Given the description of an element on the screen output the (x, y) to click on. 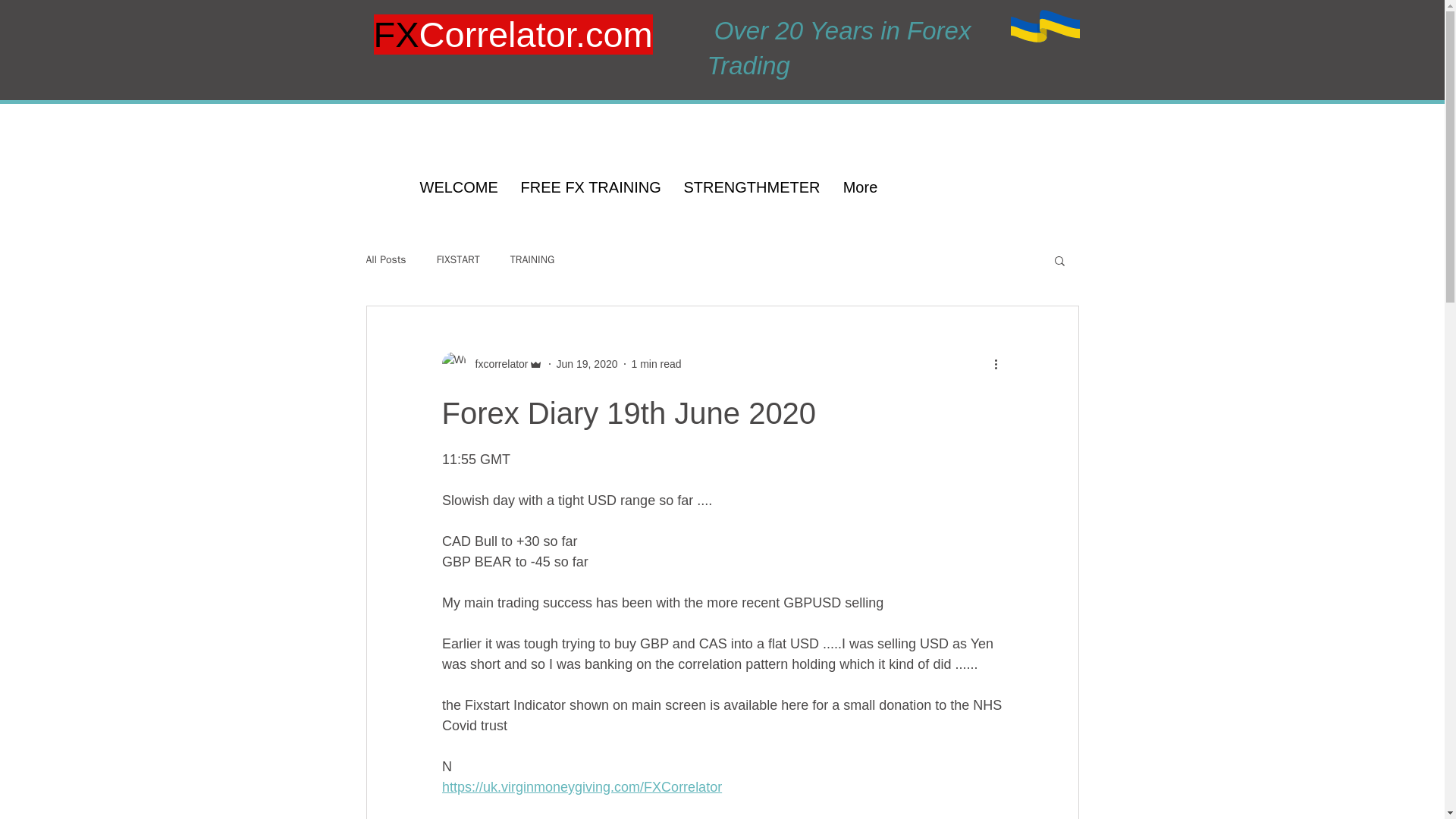
All Posts (385, 259)
FIXSTART (458, 259)
STRENGTHMETER (751, 187)
TRAINING (532, 259)
Jun 19, 2020 (586, 363)
fxcorrelator (491, 363)
WELCOME (457, 187)
FXCorrelator.com (512, 34)
fxcorrelator (496, 364)
FREE FX TRAINING (590, 187)
1 min read (655, 363)
